Given the description of an element on the screen output the (x, y) to click on. 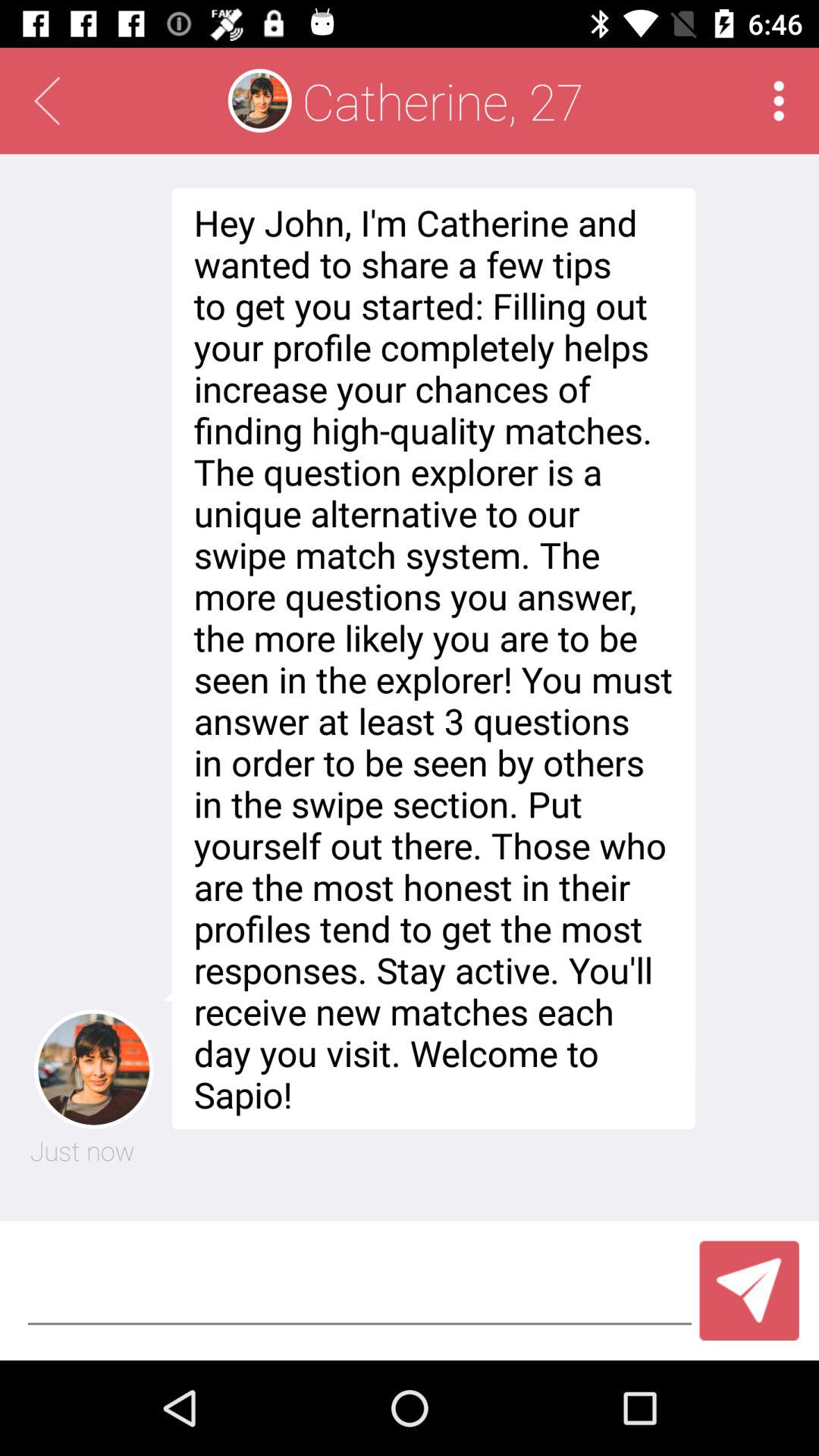
turn on hey john i at the center (429, 658)
